Given the description of an element on the screen output the (x, y) to click on. 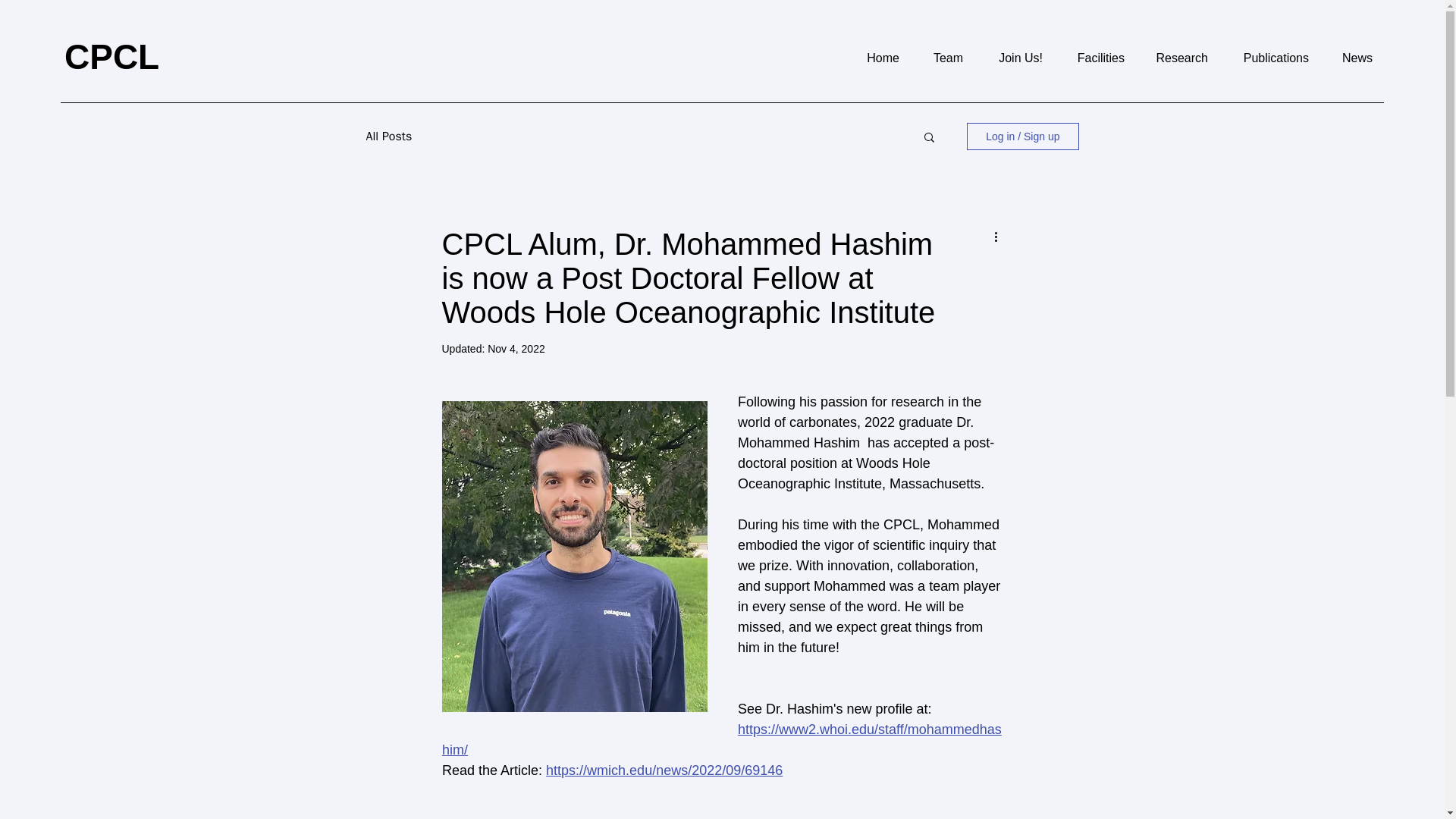
All Posts (388, 136)
Nov 4, 2022 (515, 348)
Research (1177, 57)
Home (876, 57)
CPCL (111, 56)
News (1352, 57)
Facilities (1094, 57)
Publications (1270, 57)
